Given the description of an element on the screen output the (x, y) to click on. 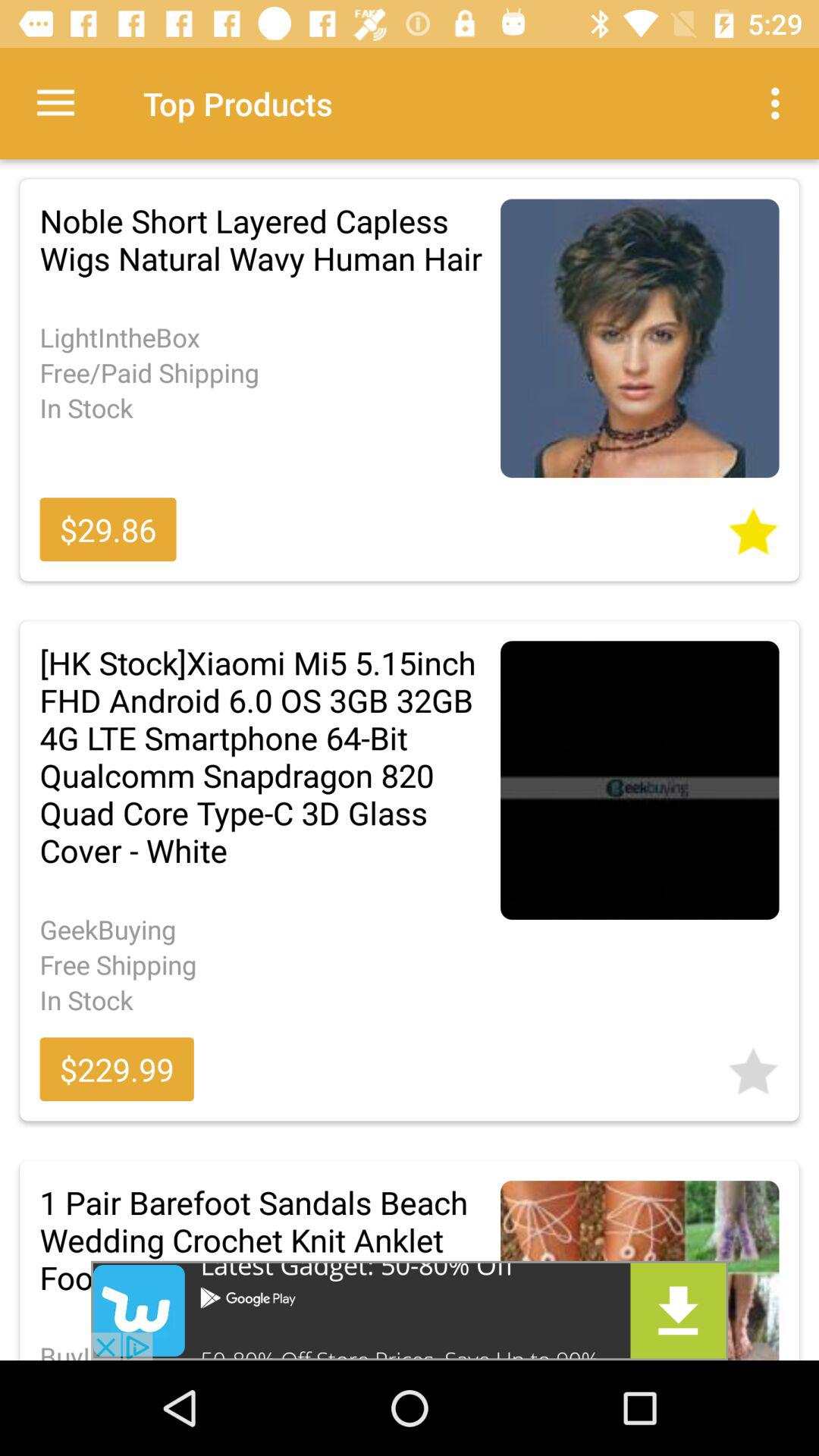
favorite button (753, 526)
